Given the description of an element on the screen output the (x, y) to click on. 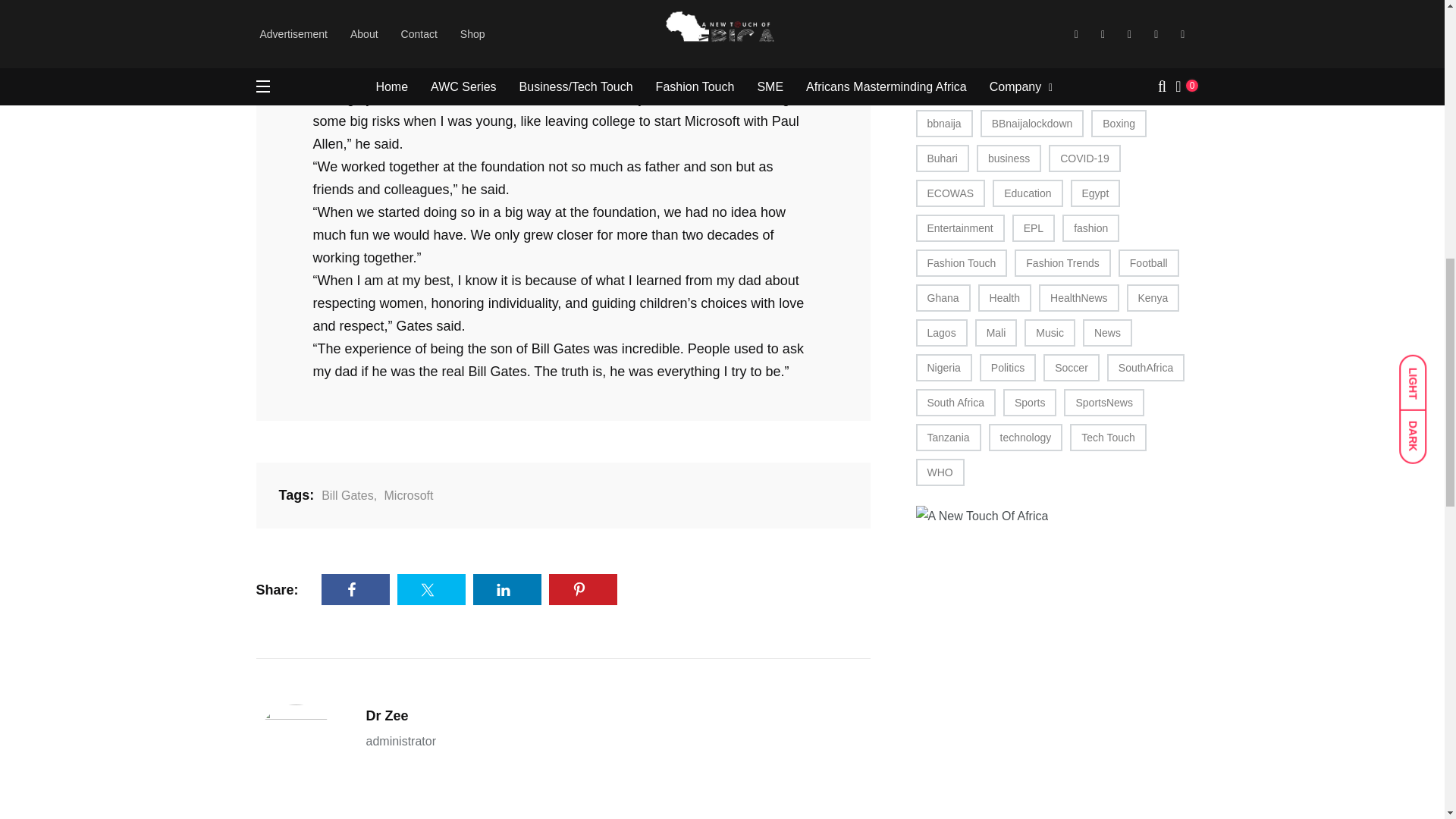
Share on Facebook (355, 589)
Share on Twitter (431, 589)
Share on Pinterest (582, 589)
Share on LinkedIn (507, 589)
